Given the description of an element on the screen output the (x, y) to click on. 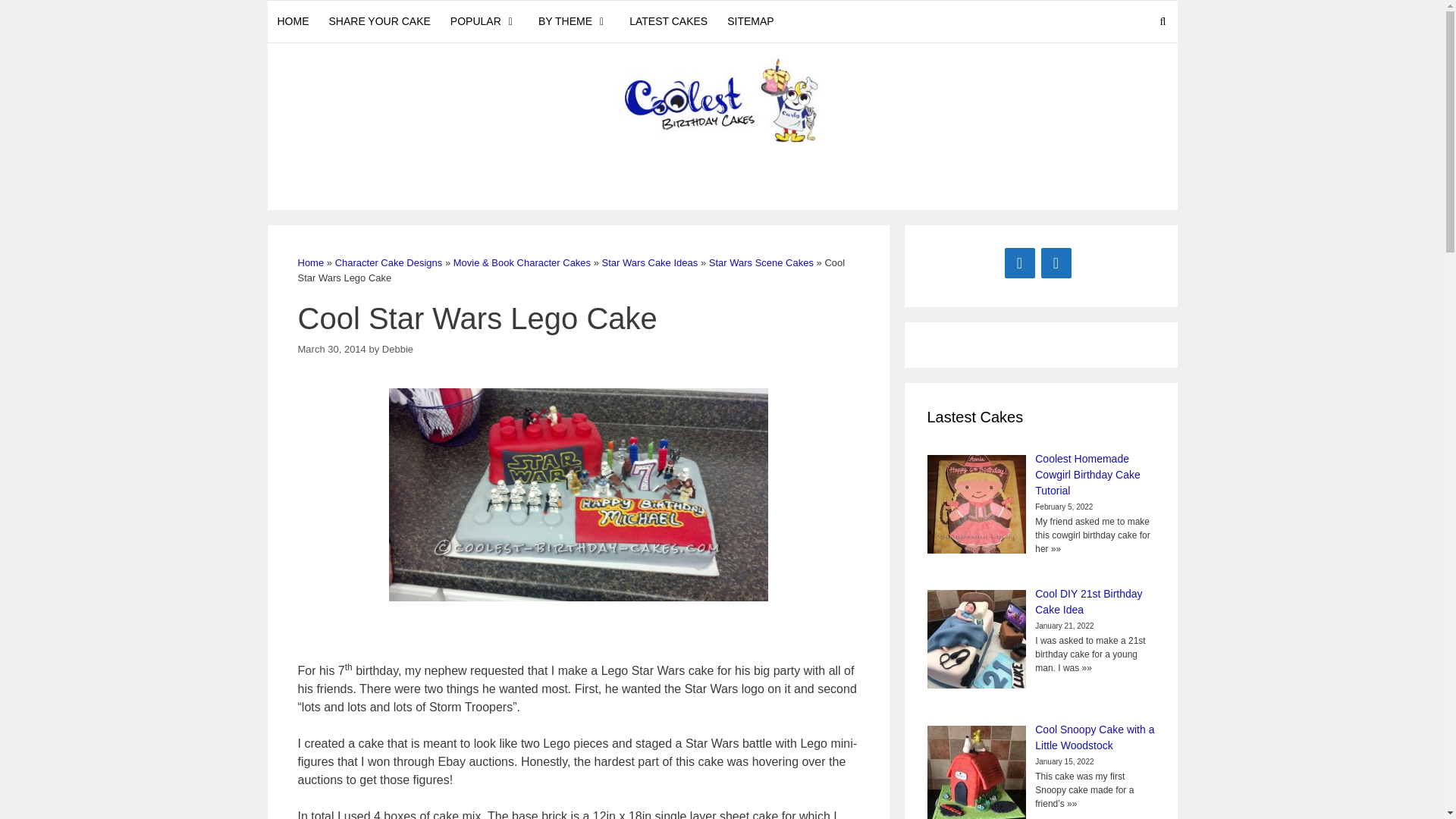
LATEST CAKES (668, 21)
Character Cake Designs (388, 262)
BY THEME (574, 21)
POPULAR (484, 21)
View all posts by Debbie (397, 348)
Instagram (1055, 263)
SHARE YOUR CAKE (378, 21)
Home (310, 262)
SITEMAP (750, 21)
HOME (292, 21)
